Given the description of an element on the screen output the (x, y) to click on. 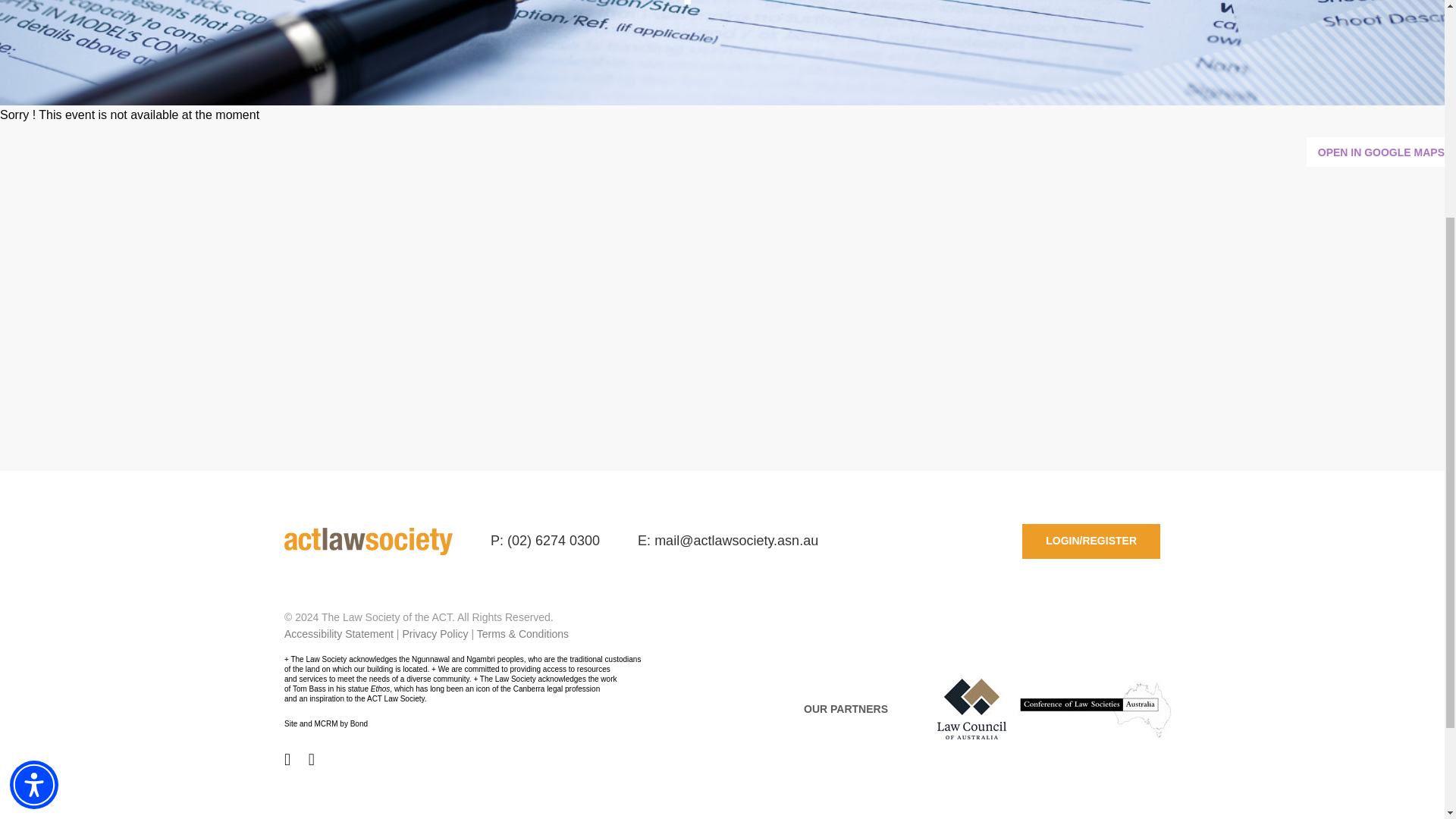
Accessibility Menu (34, 452)
